Given the description of an element on the screen output the (x, y) to click on. 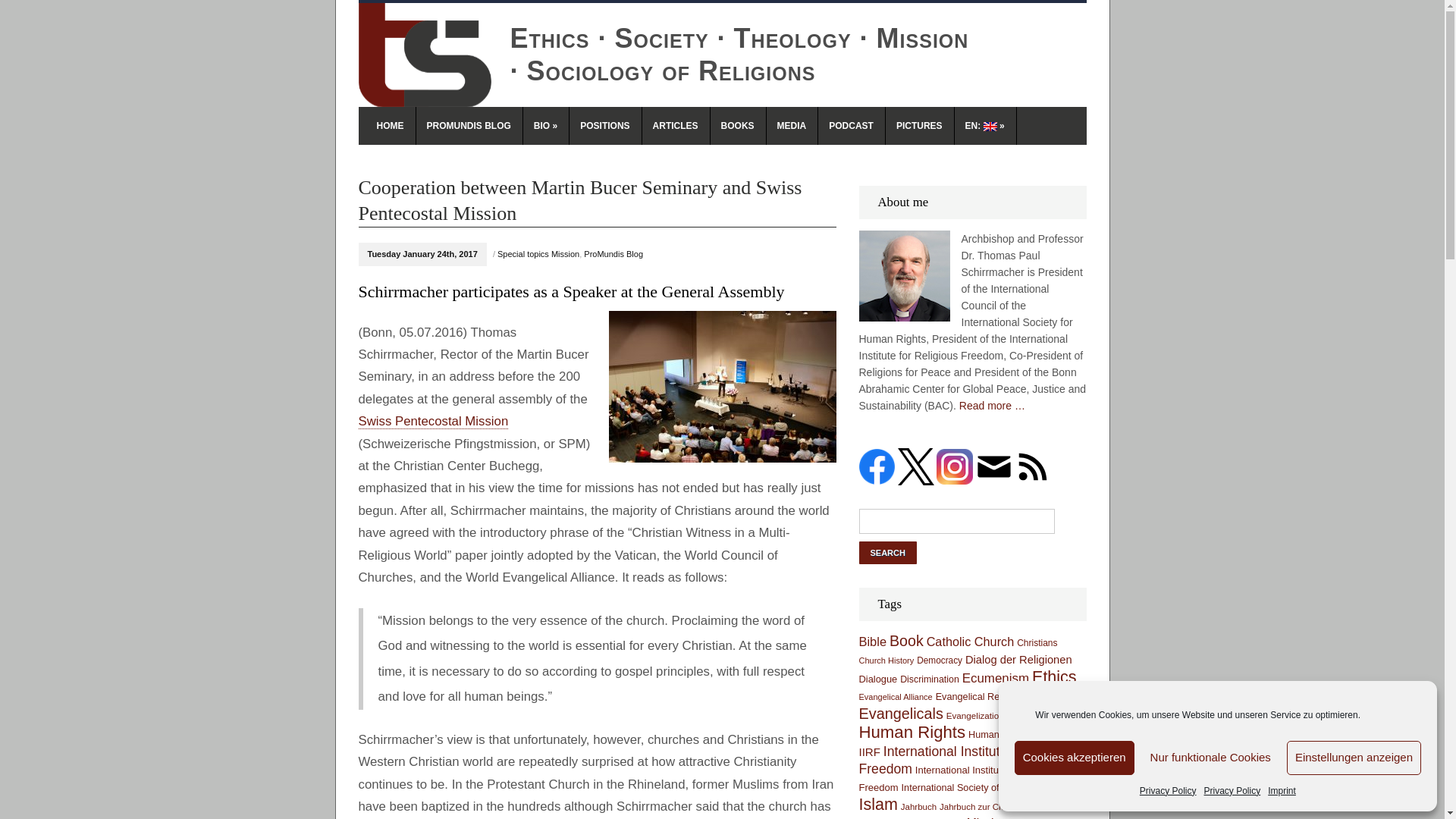
Swiss Pentecostal Mission (433, 421)
HOME (389, 125)
Privacy Policy (1232, 790)
ProMundis Newsletter (993, 465)
Imprint (1281, 790)
ProMundis Blog RSS (1032, 465)
BOOKS (737, 125)
PODCAST (851, 125)
ARTICLES (676, 125)
ProMundis Blog (613, 253)
Special topics Mission (538, 253)
Thomas Paul Schirrmacher on Facebook (877, 465)
Einstellungen anzeigen (1354, 757)
Privacy Policy (1168, 790)
Search (887, 552)
